Given the description of an element on the screen output the (x, y) to click on. 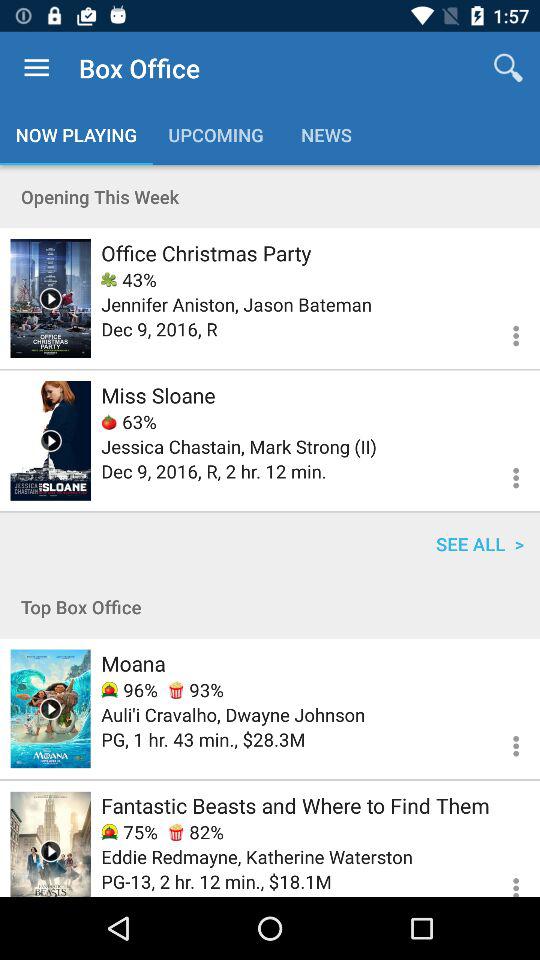
click to play (50, 440)
